Given the description of an element on the screen output the (x, y) to click on. 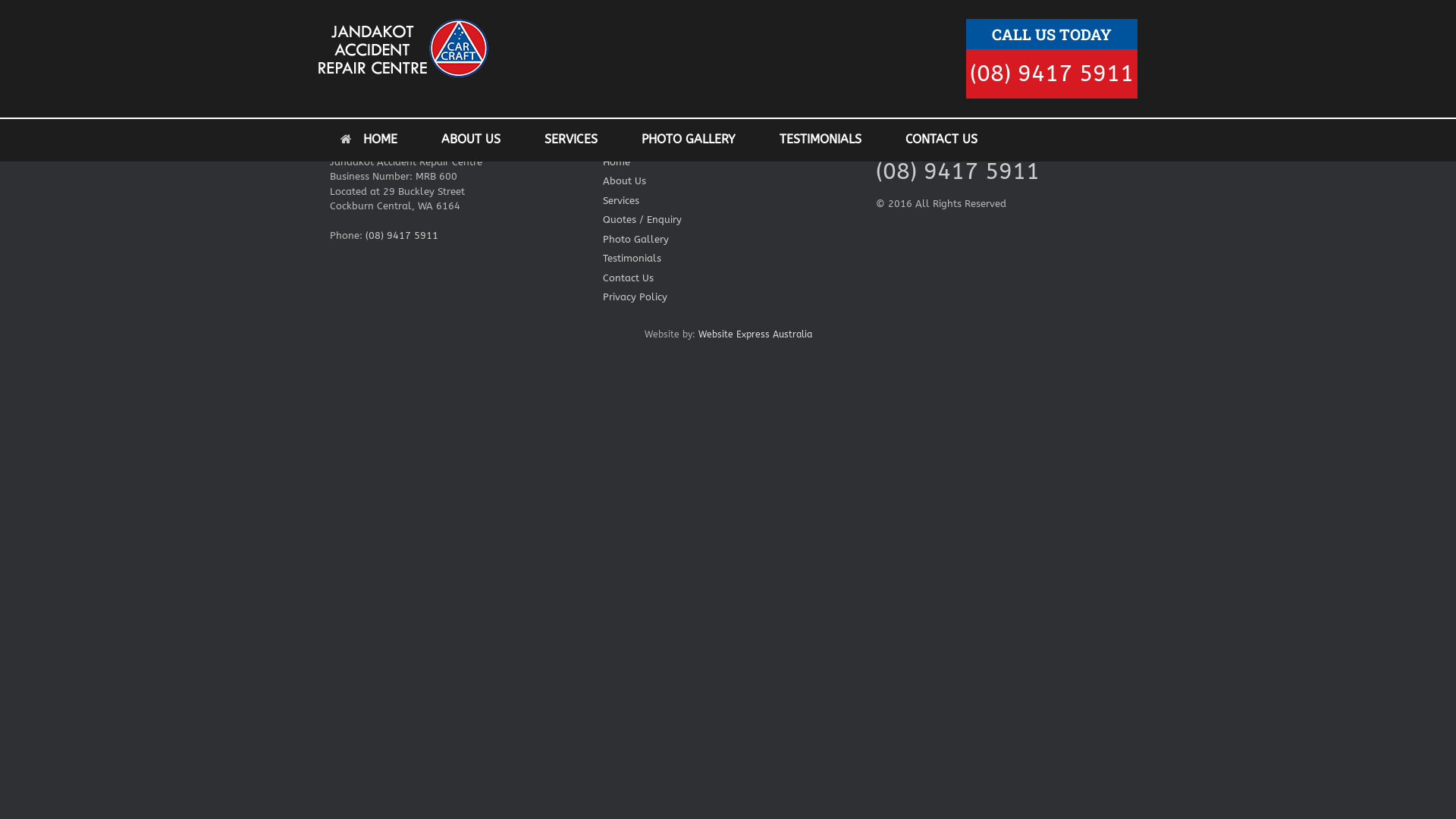
(08) 9417 5911 Element type: text (1051, 73)
Home Element type: text (727, 163)
(08) 9417 5911 Element type: text (401, 235)
Quotes / Enquiry Element type: text (727, 220)
Contact Us Element type: text (727, 279)
Photo Gallery Element type: text (727, 240)
Services Element type: text (727, 201)
(08) 9417 5911 Element type: text (957, 171)
TESTIMONIALS Element type: text (820, 140)
SERVICES Element type: text (570, 140)
Website Express Australia Element type: text (754, 334)
Jandakot Accident Repair Centre Element type: hover (403, 47)
CONTACT US Element type: text (941, 140)
ABOUT US Element type: text (470, 140)
About Us Element type: text (727, 182)
PHOTO GALLERY Element type: text (688, 140)
Testimonials Element type: text (727, 259)
Privacy Policy Element type: text (727, 298)
HOME Element type: text (368, 140)
